Given the description of an element on the screen output the (x, y) to click on. 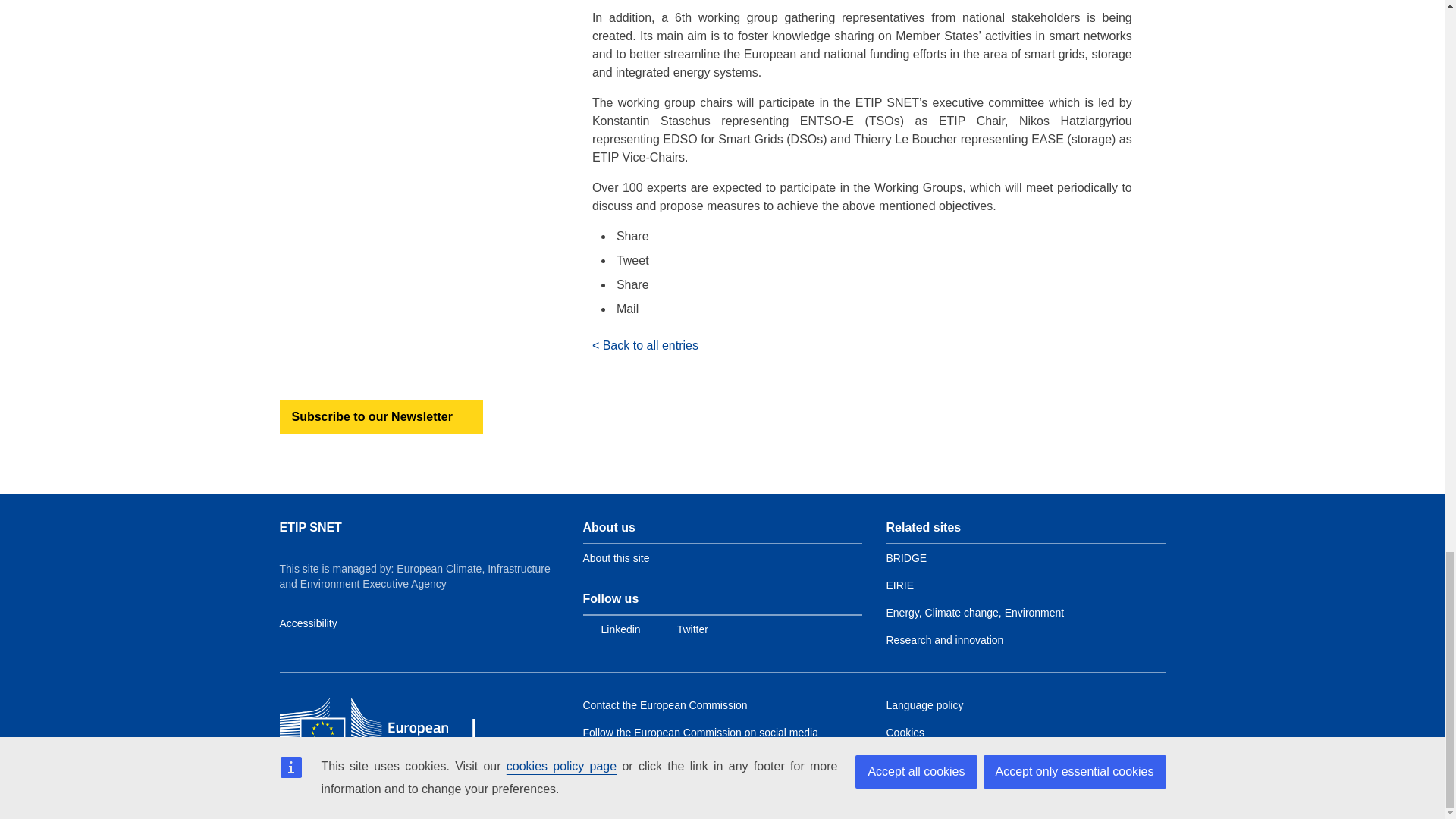
Twitter (867, 260)
European Commission (389, 723)
Facebook (867, 236)
Email This (867, 309)
LinkedIn (867, 285)
